Given the description of an element on the screen output the (x, y) to click on. 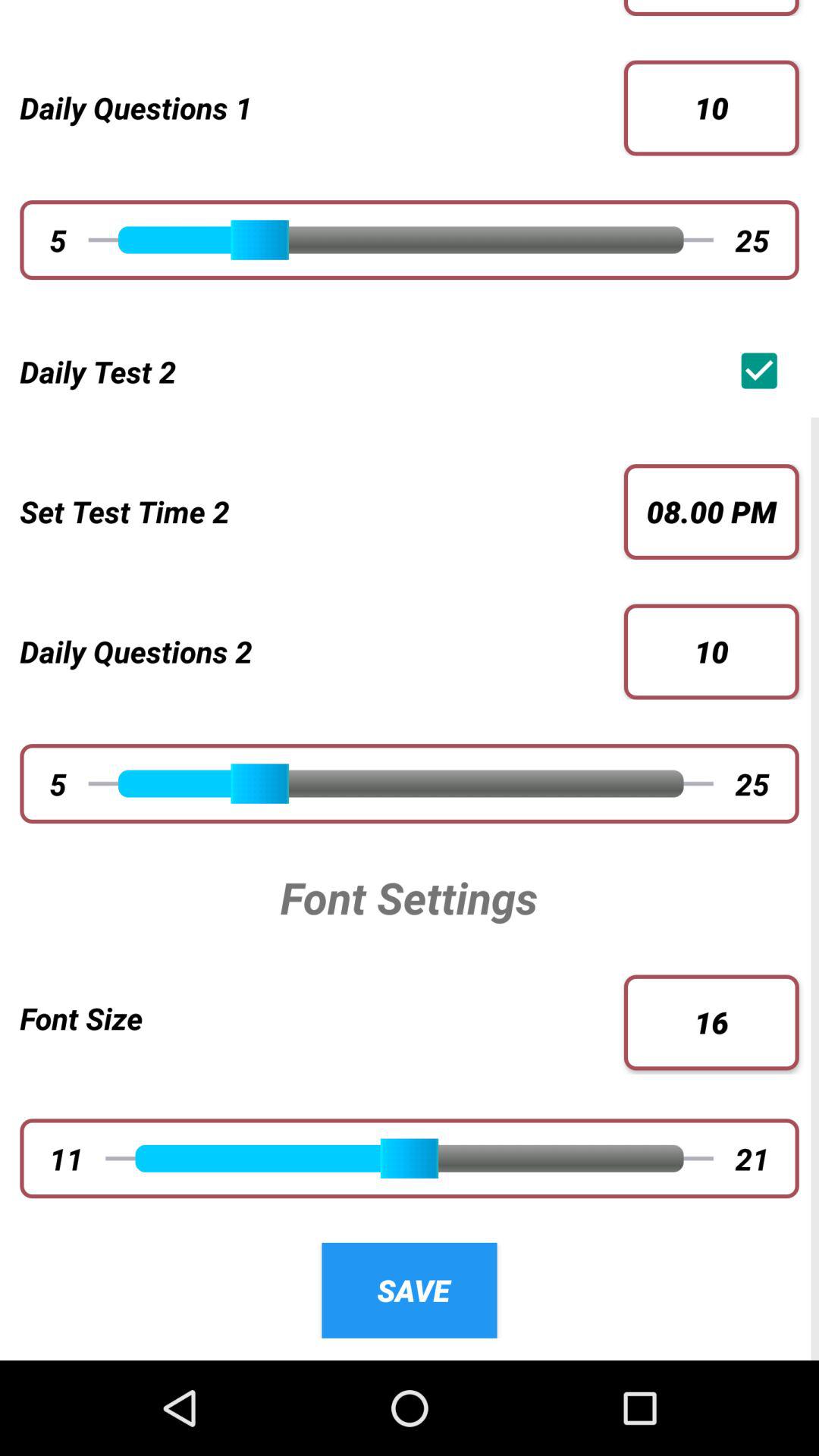
select the app below 25 (763, 370)
